Given the description of an element on the screen output the (x, y) to click on. 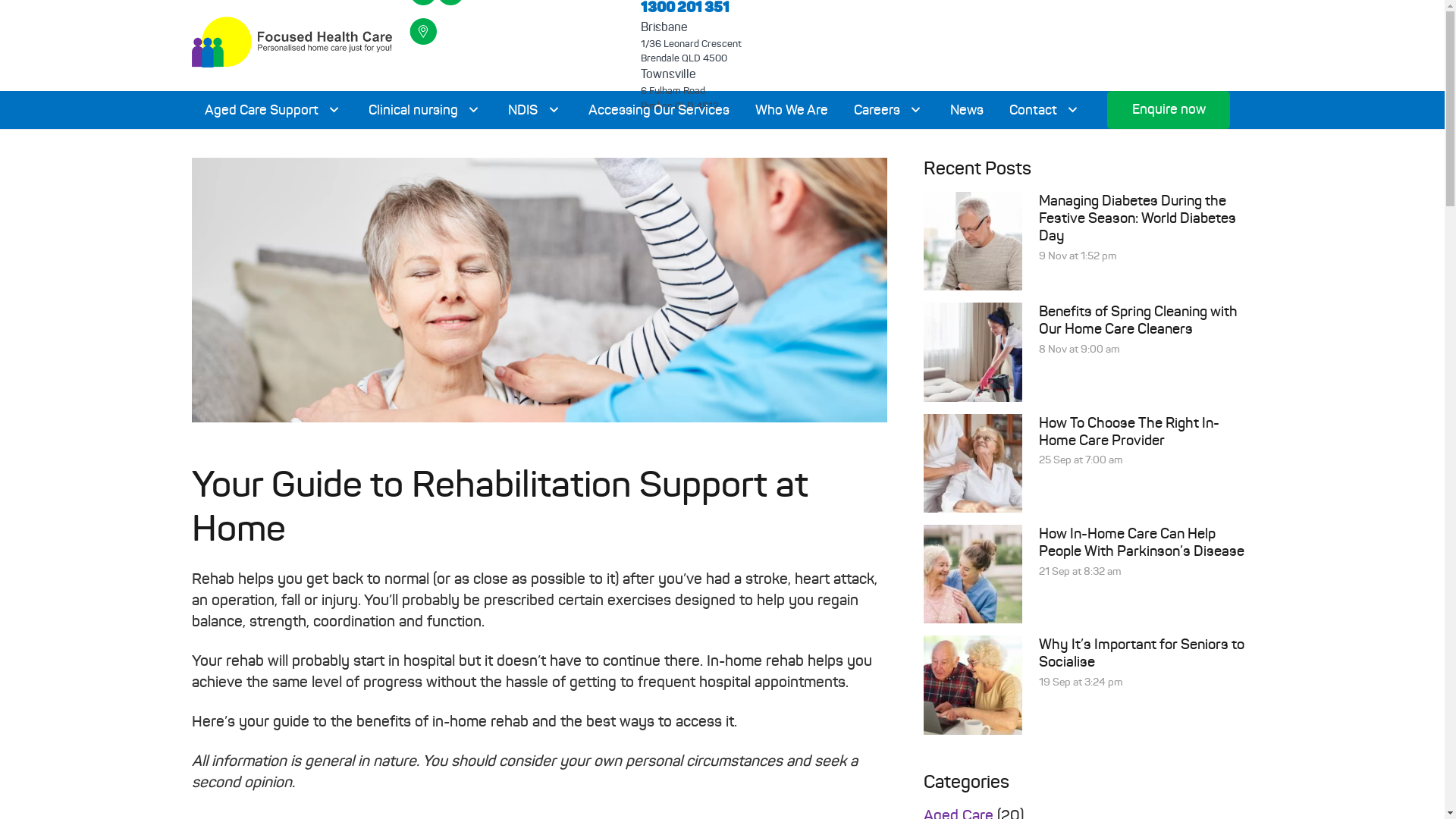
Brisbane Element type: text (663, 26)
Contact Element type: text (1045, 109)
Clinical nursing Element type: text (425, 109)
Careers Element type: text (888, 109)
Townsville Element type: text (668, 73)
Benefits of Spring Cleaning with Our Home Care Cleaners Element type: text (1137, 319)
How To Choose The Right In-Home Care Provider Element type: text (1128, 431)
Who We Are Element type: text (791, 109)
Aged Care Support Element type: text (272, 109)
Accessing Our Services Element type: text (658, 109)
NDIS Element type: text (534, 109)
Enquire now Element type: text (1168, 109)
News Element type: text (966, 109)
